Given the description of an element on the screen output the (x, y) to click on. 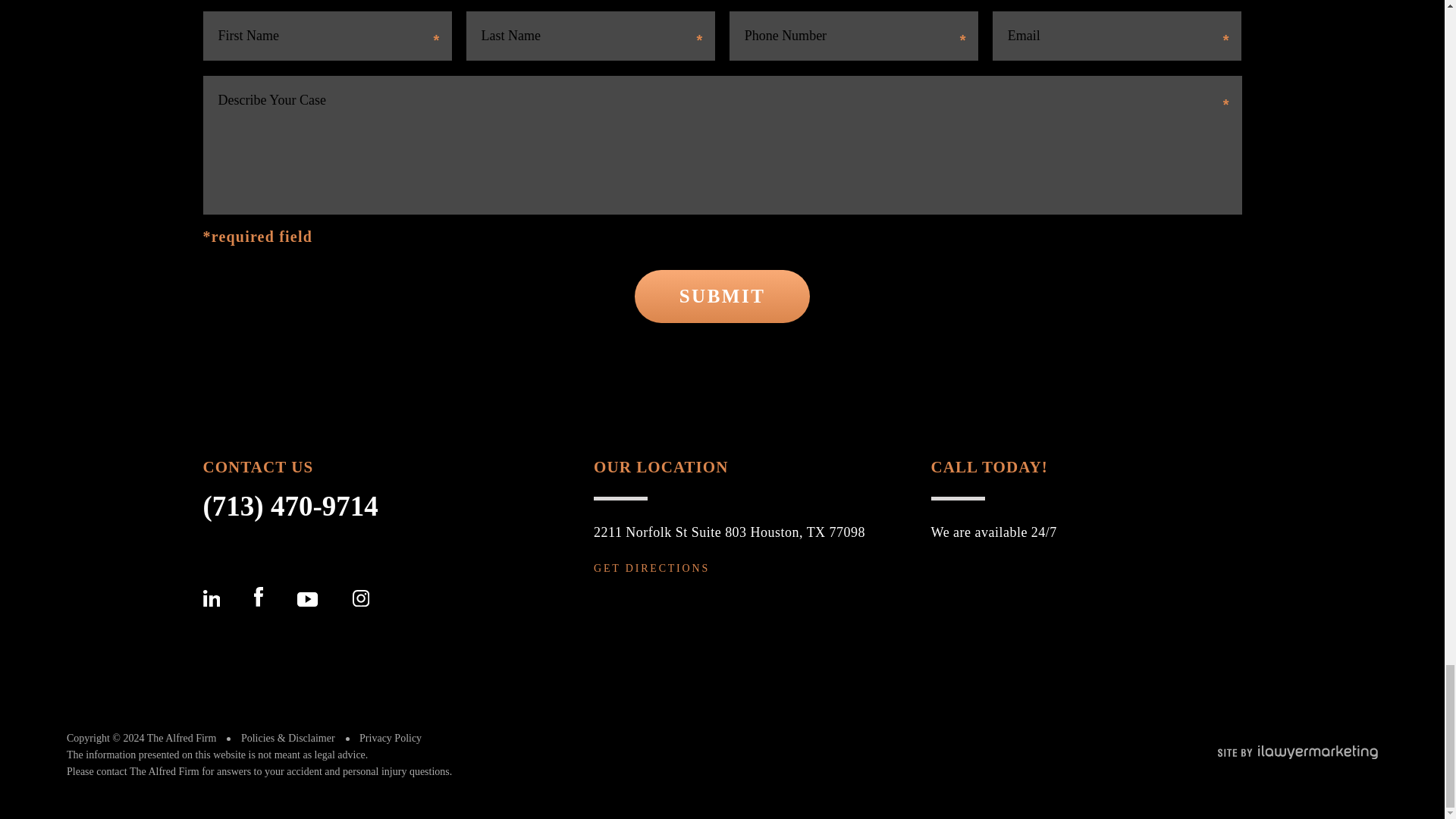
GET DIRECTIONS (652, 568)
Submit (722, 296)
Submit (722, 296)
